Given the description of an element on the screen output the (x, y) to click on. 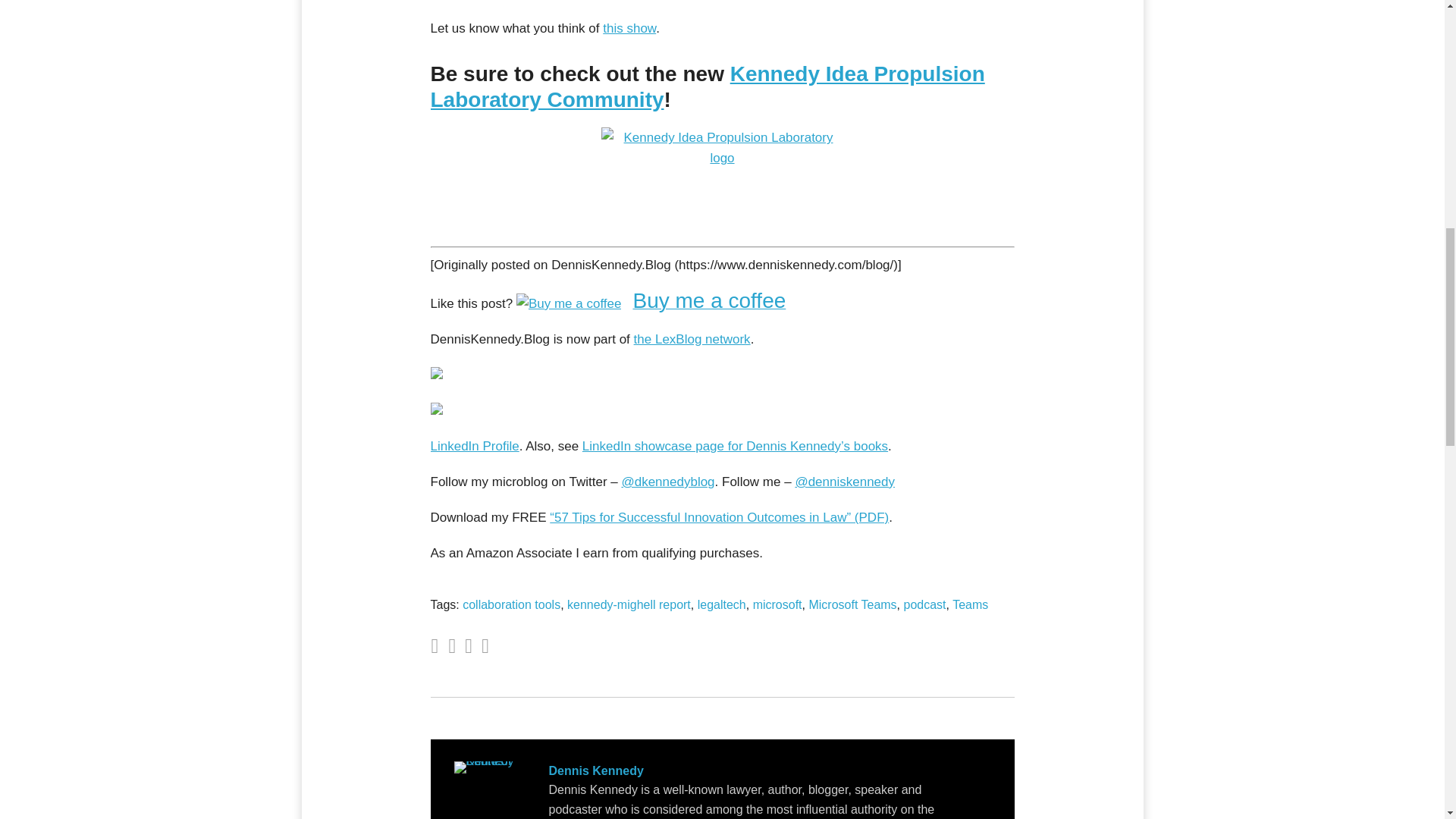
LinkedIn Profile (474, 445)
kennedy-mighell report (628, 604)
Buy me a coffee (651, 303)
Kennedy Idea Propulsion Laboratory Community (707, 86)
collaboration tools (511, 604)
this show (629, 28)
the LexBlog network (692, 339)
